Given the description of an element on the screen output the (x, y) to click on. 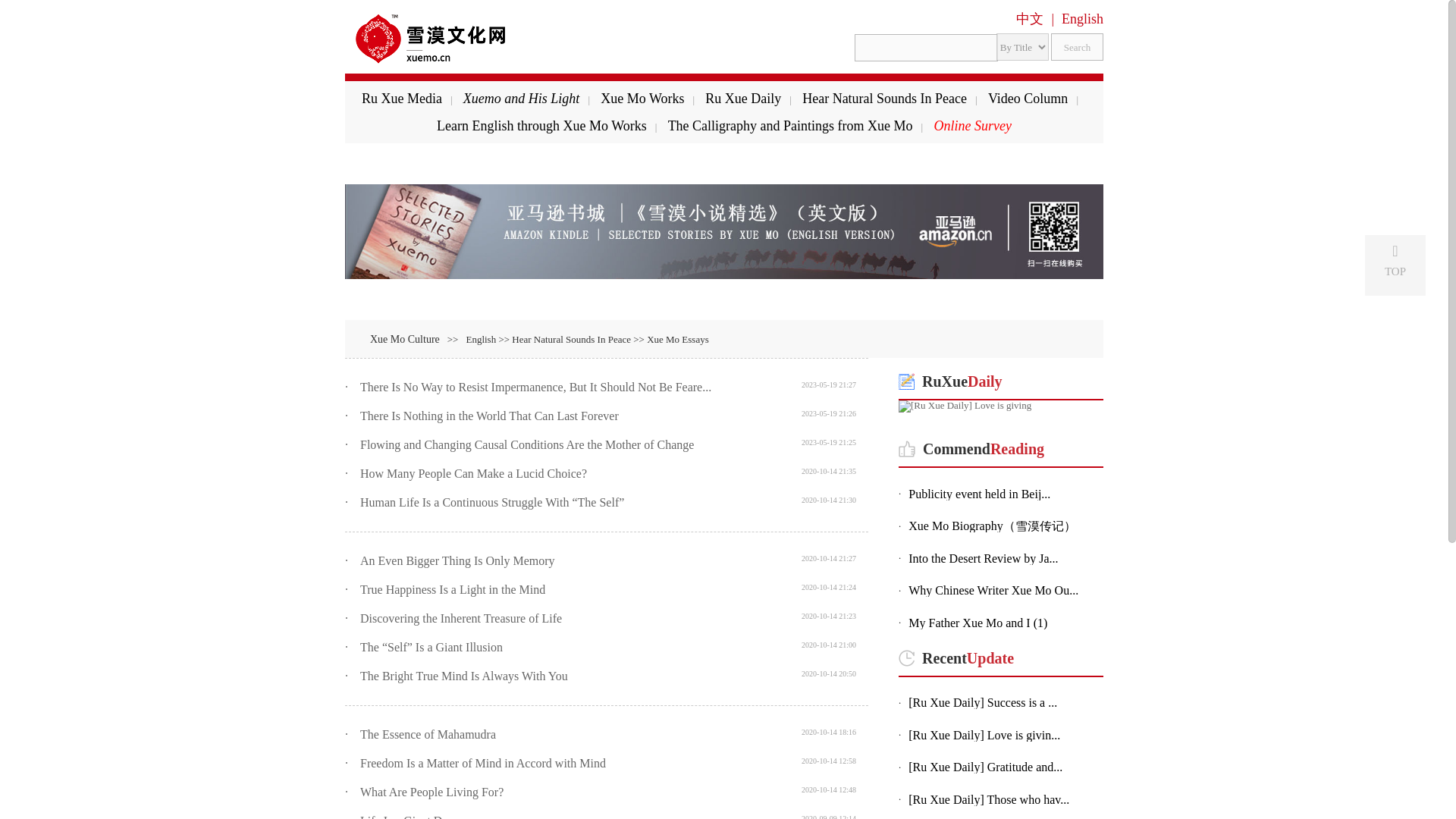
There Is Nothing in the World That Can Last Forever (488, 415)
How Many People Can Make a Lucid Choice? (472, 472)
The Calligraphy and Paintings from Xue Mo (790, 125)
Xue Mo Works (641, 98)
There Is Nothing in the World That Can Last Forever (488, 415)
The Essence of Mahamudra (427, 734)
Ru Xue Daily (742, 98)
The Bright True Mind Is Always With You (463, 675)
How Many People Can Make a Lucid Choice? (472, 472)
